Given the description of an element on the screen output the (x, y) to click on. 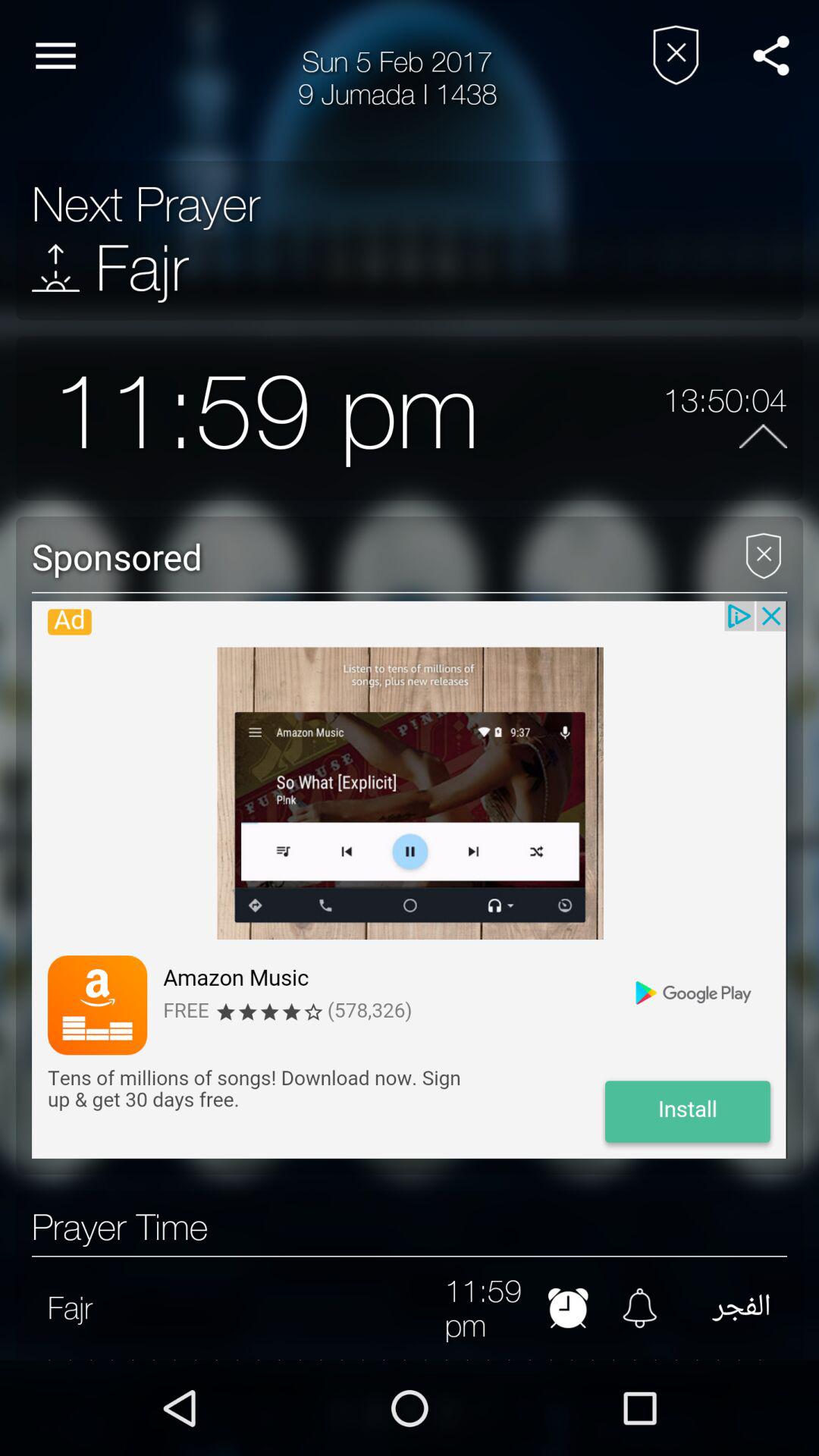
click notification icon (639, 1308)
